Given the description of an element on the screen output the (x, y) to click on. 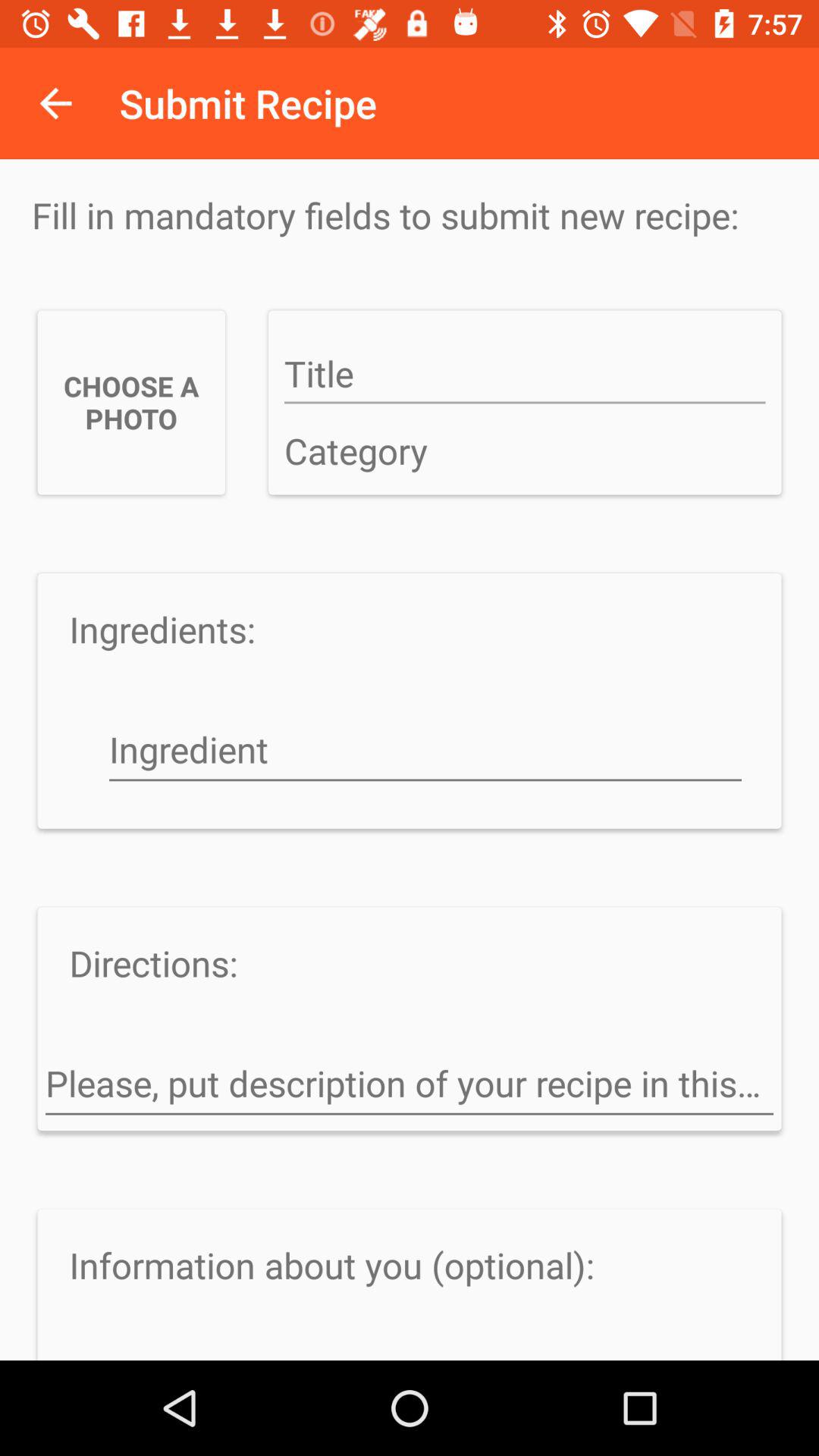
enter ingredient (425, 751)
